Given the description of an element on the screen output the (x, y) to click on. 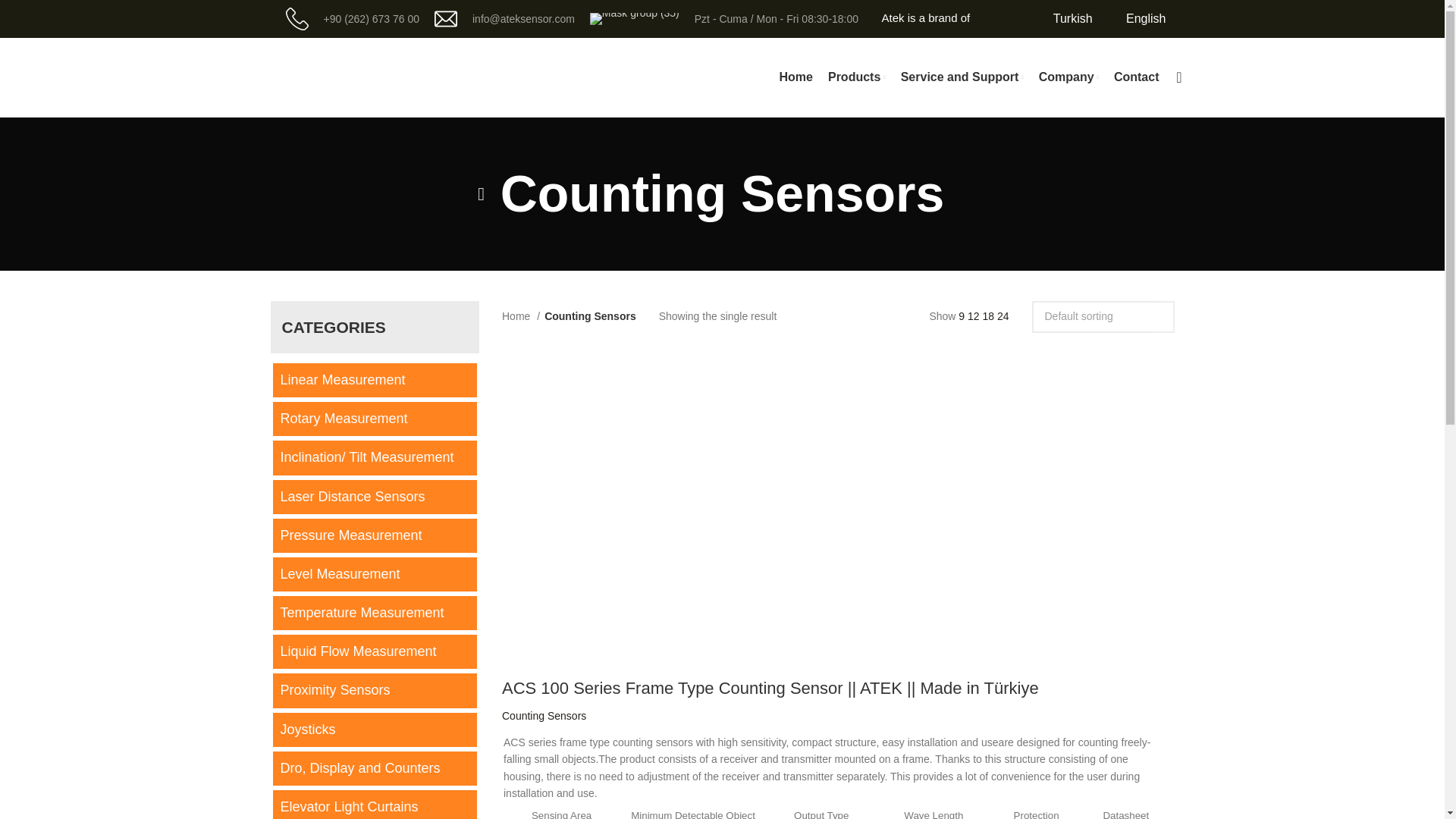
Turkish (1062, 18)
Home (795, 77)
Company (1069, 77)
Service and Support (962, 77)
atek-en (562, 393)
English (1136, 18)
Products (856, 77)
